Given the description of an element on the screen output the (x, y) to click on. 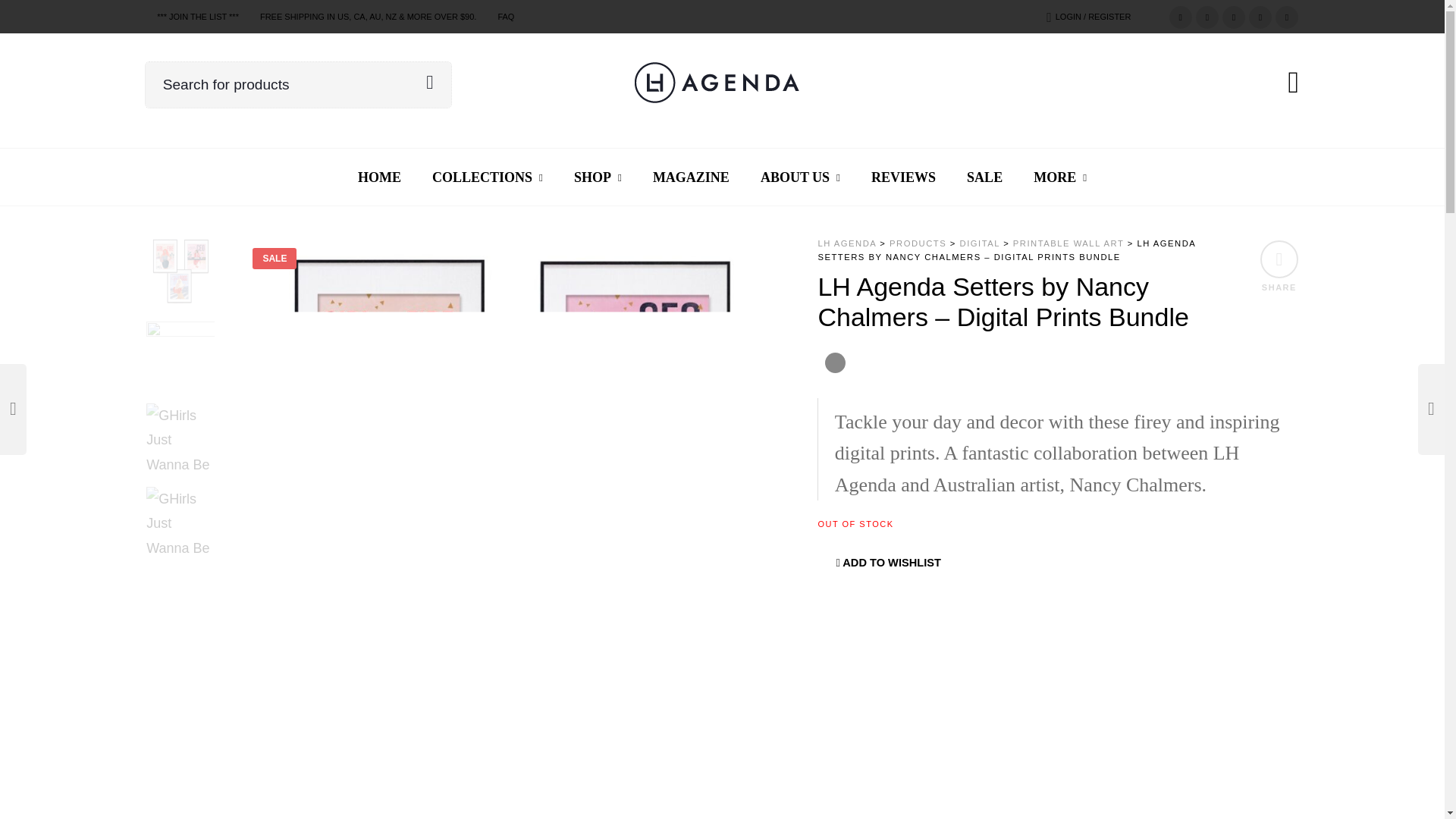
Search (429, 82)
HOME (378, 178)
Facebook (1206, 15)
Shop (597, 178)
Pinterest (1233, 15)
Linkedin (1260, 15)
Instagram (1286, 15)
SHOP (597, 178)
Twitter (1180, 15)
COLLECTIONS (487, 178)
